Given the description of an element on the screen output the (x, y) to click on. 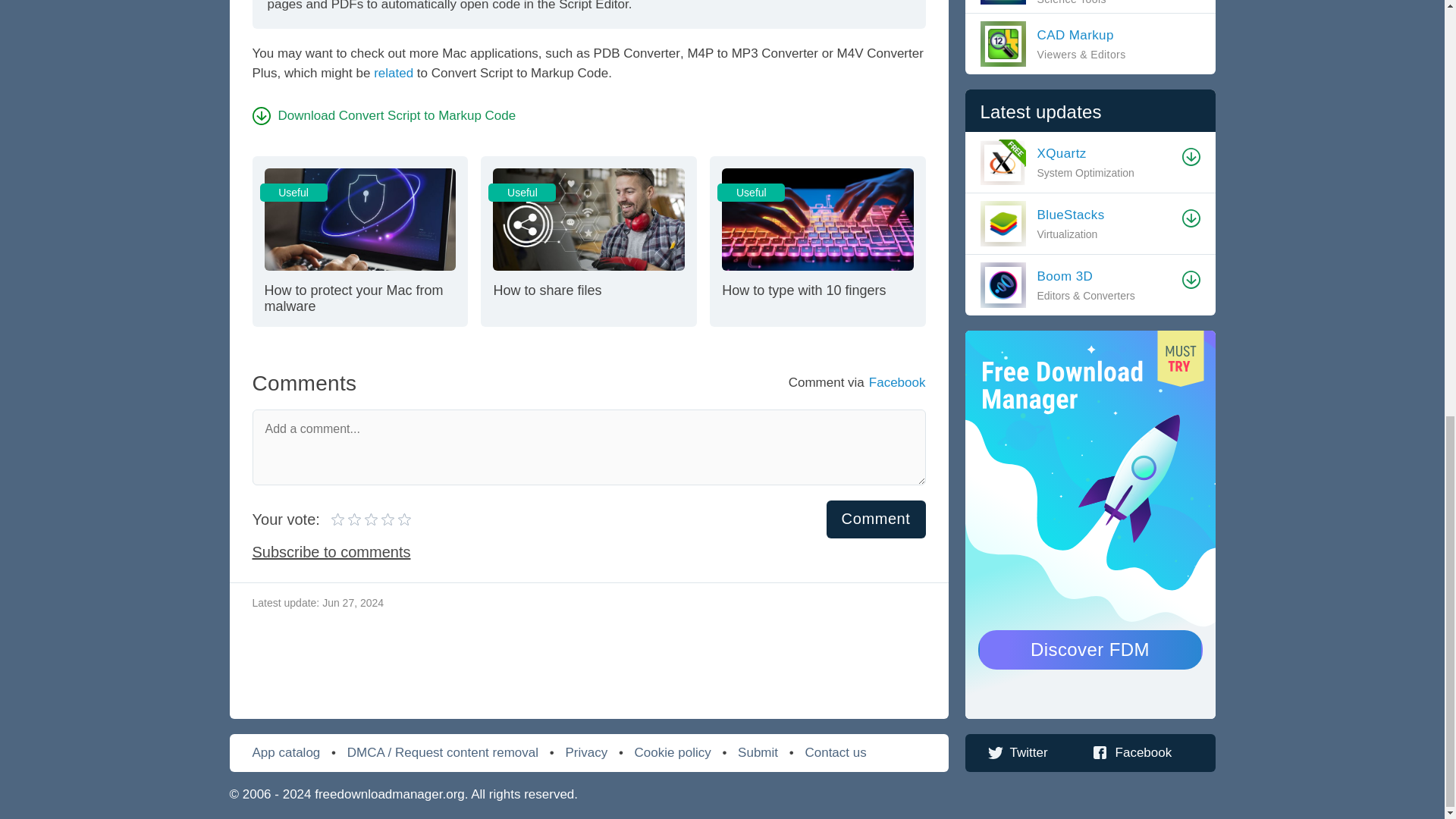
related (393, 73)
4 (363, 519)
Comment (587, 240)
Comment (876, 518)
2 (359, 240)
5 (876, 518)
3 (346, 519)
Download Convert Script to Markup Code (370, 519)
1 (355, 519)
